Given the description of an element on the screen output the (x, y) to click on. 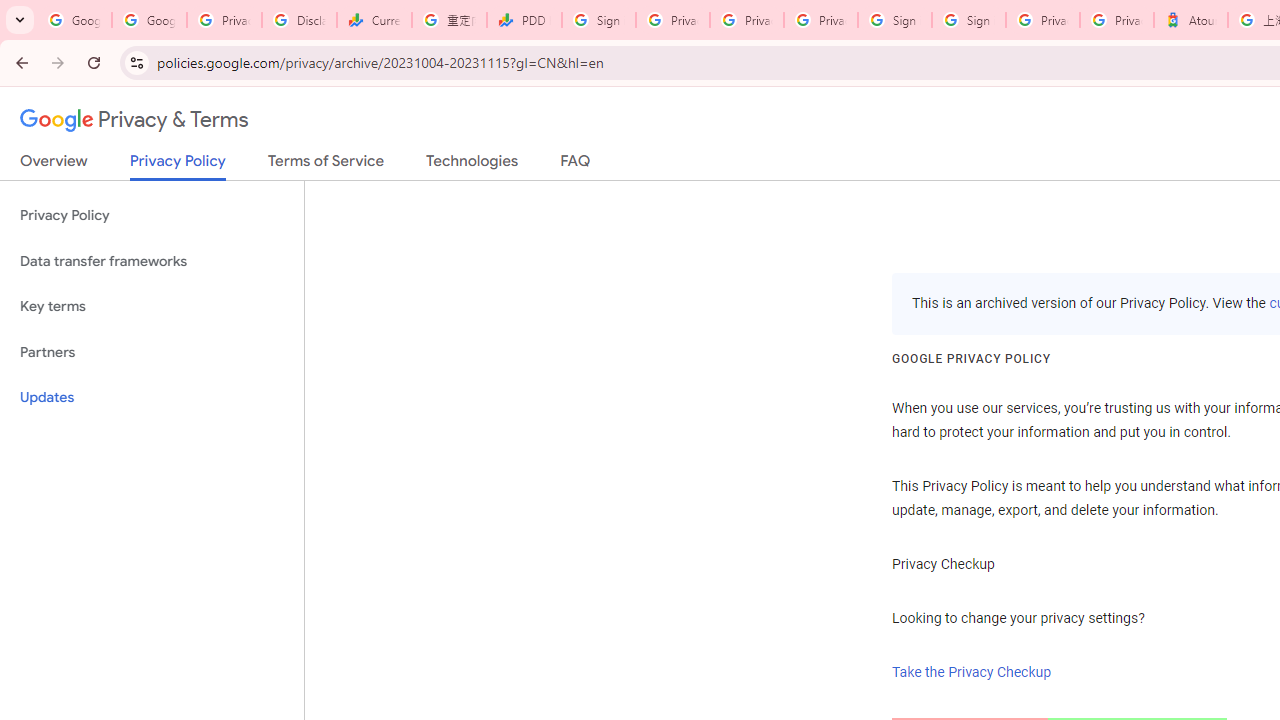
PDD Holdings Inc - ADR (PDD) Price & News - Google Finance (523, 20)
Privacy Checkup (820, 20)
Currencies - Google Finance (374, 20)
Take the Privacy Checkup (972, 672)
